Given the description of an element on the screen output the (x, y) to click on. 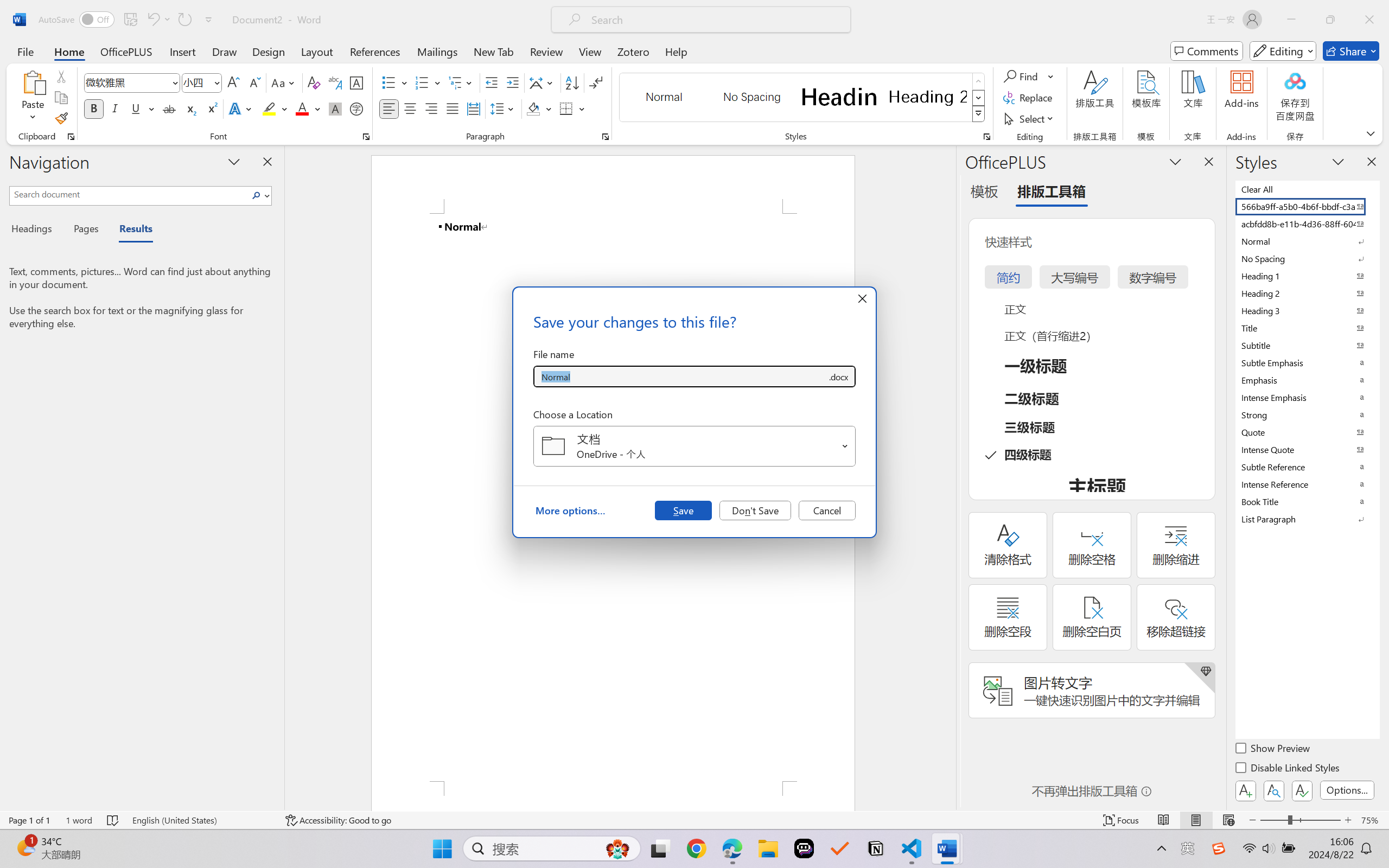
Read Mode (1163, 819)
Zoom In (1348, 819)
Notion (875, 848)
Underline (142, 108)
AutoSave (76, 19)
Bullets (388, 82)
Decrease Indent (491, 82)
Class: Image (1218, 847)
Search document (128, 193)
Language English (United States) (201, 819)
Web Layout (1228, 819)
File name (680, 376)
